Given the description of an element on the screen output the (x, y) to click on. 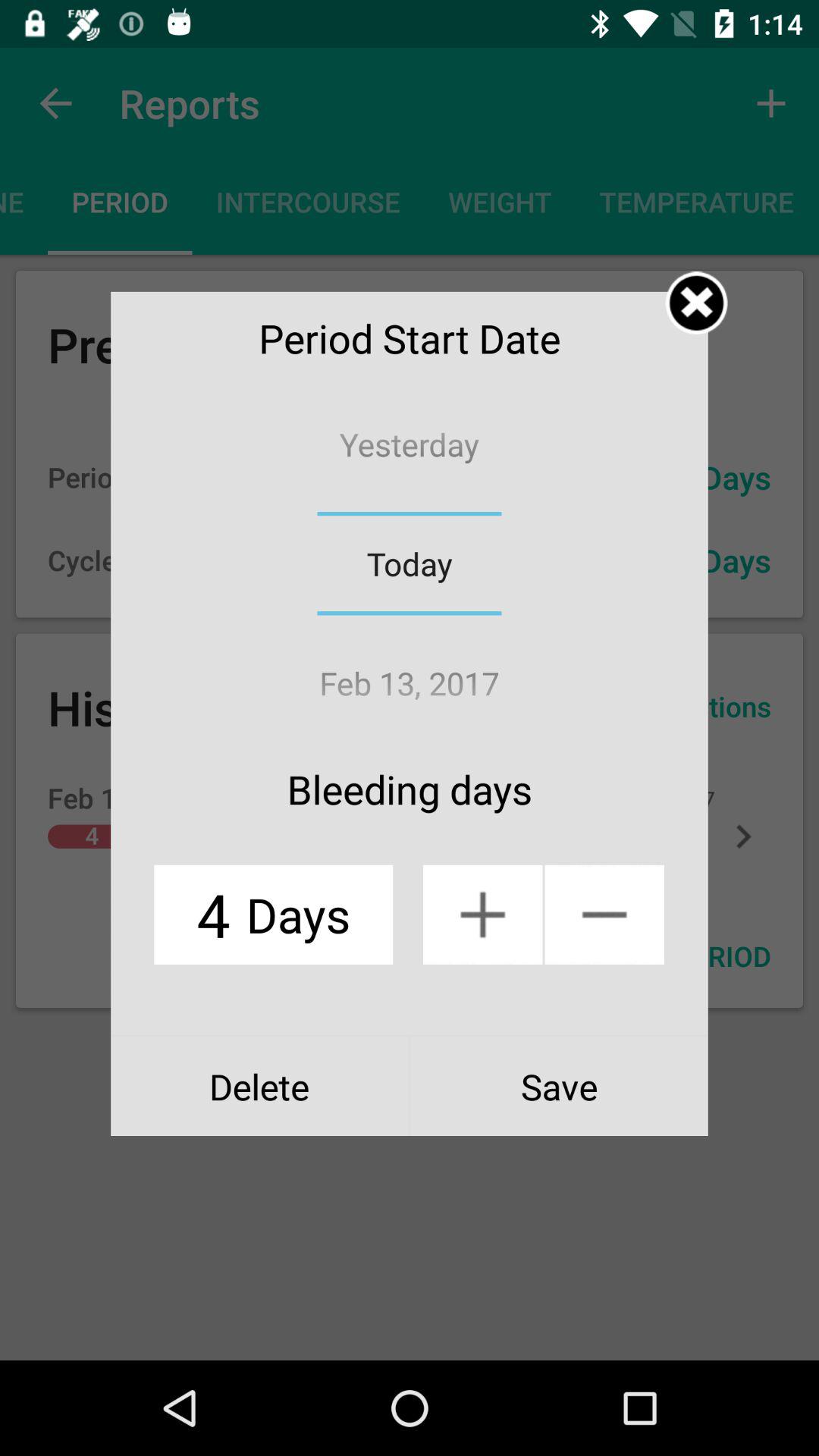
plus button (482, 914)
